Given the description of an element on the screen output the (x, y) to click on. 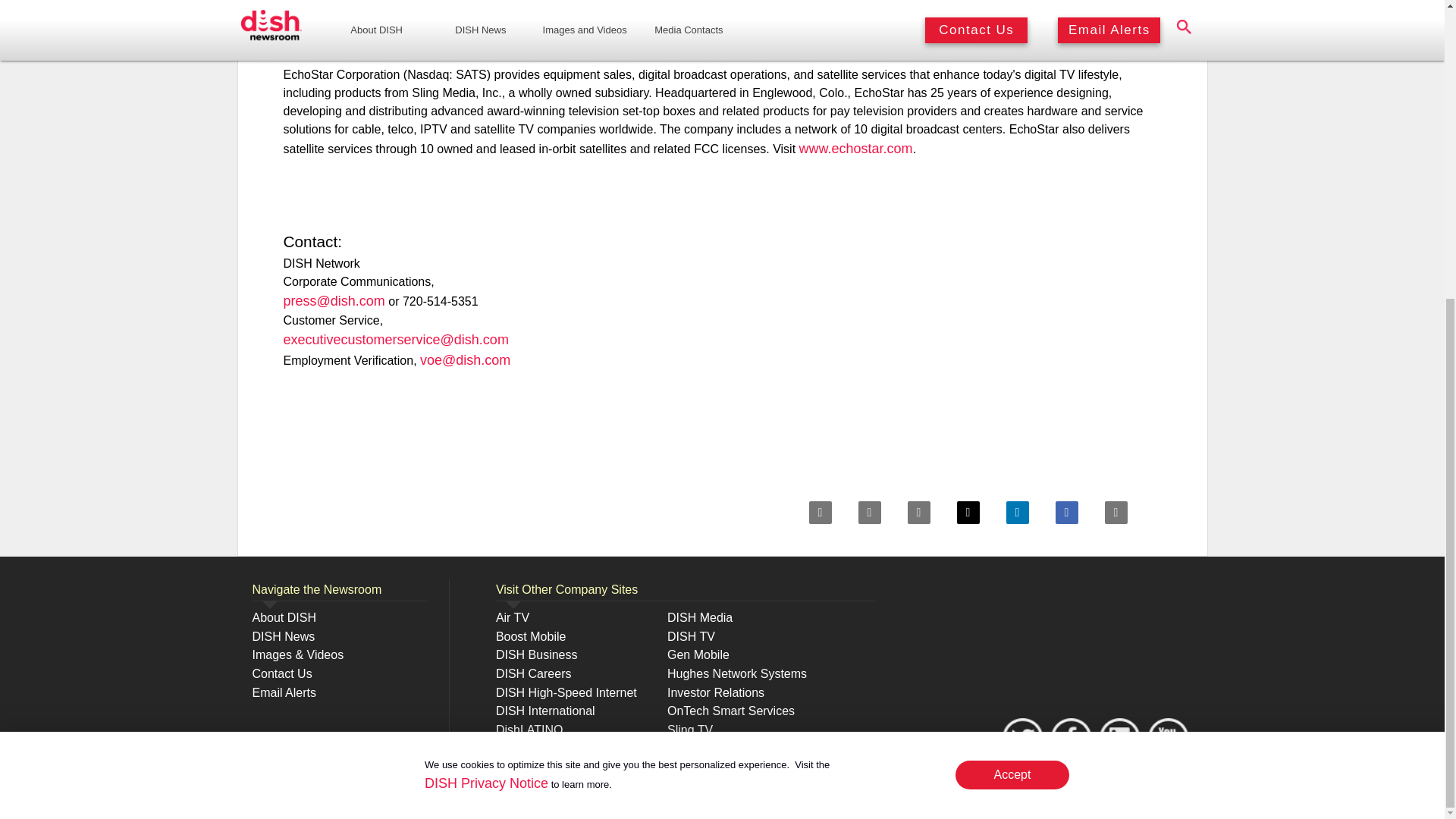
Email Alerts (283, 692)
rss (869, 512)
Fan us on Facebook (1070, 737)
print (1114, 512)
email (918, 512)
www.dish.com (475, 0)
About DISH (283, 617)
Air TV (512, 617)
Follow us on Twitter (1021, 737)
Watch us on YouTube (1167, 737)
Follow us on Twitter (1118, 737)
Facebook Share (1066, 512)
www.echostar.com (855, 148)
Contact Us (281, 673)
Twitter Share (967, 512)
